Given the description of an element on the screen output the (x, y) to click on. 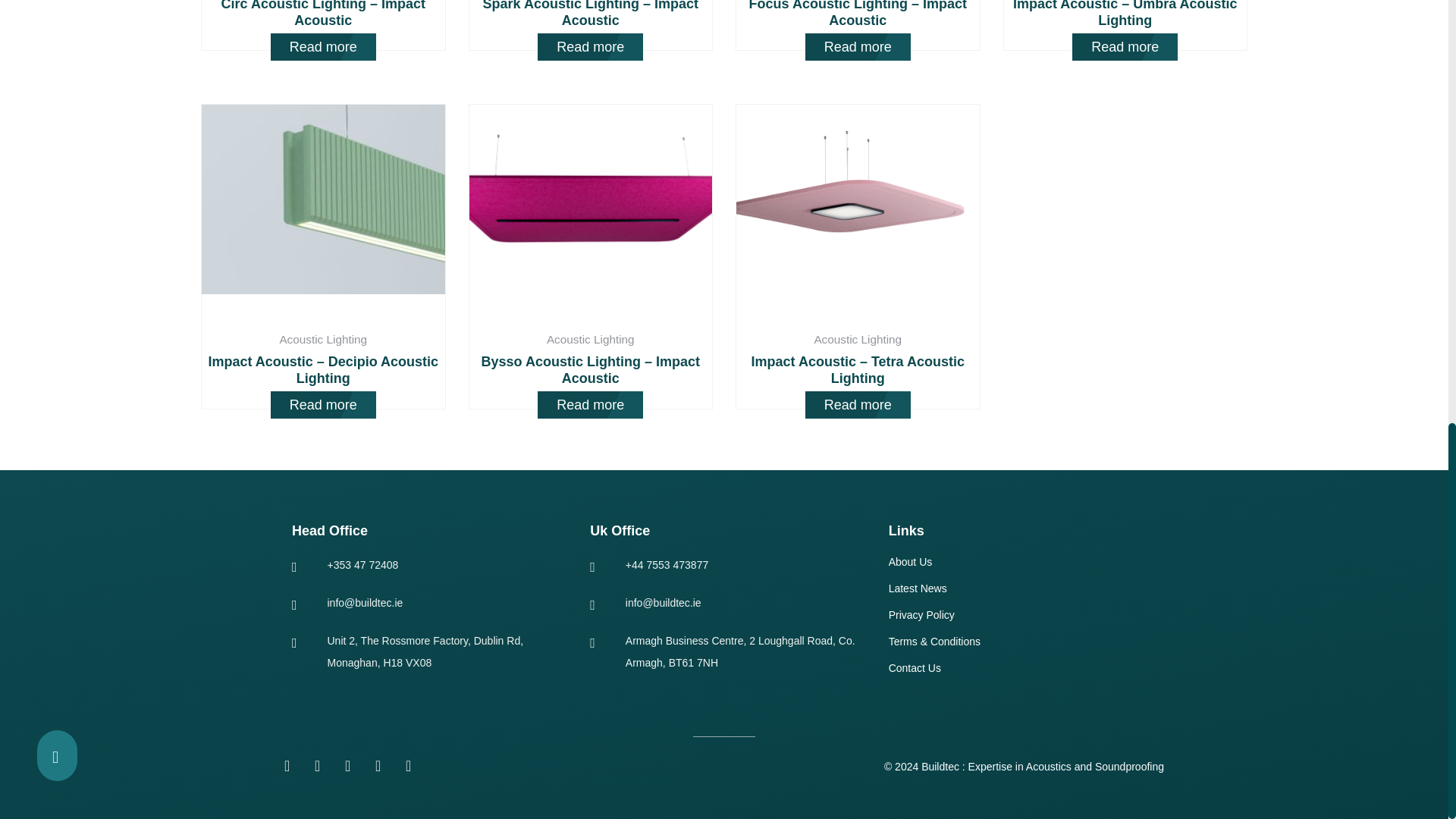
Read more (590, 46)
Read more (322, 46)
